Given the description of an element on the screen output the (x, y) to click on. 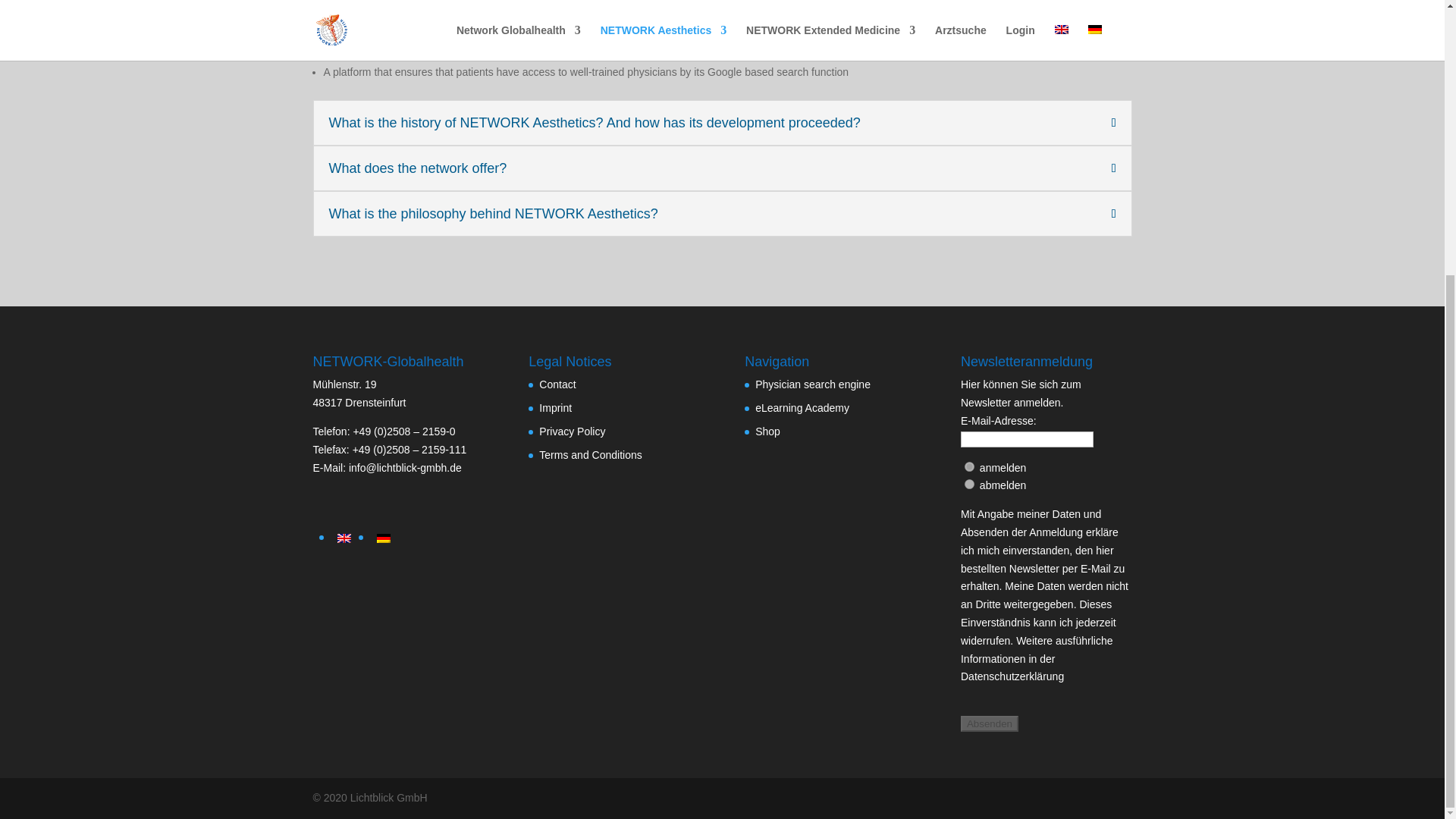
subscribe (968, 466)
Absenden (988, 723)
unsubscribe (968, 483)
